Given the description of an element on the screen output the (x, y) to click on. 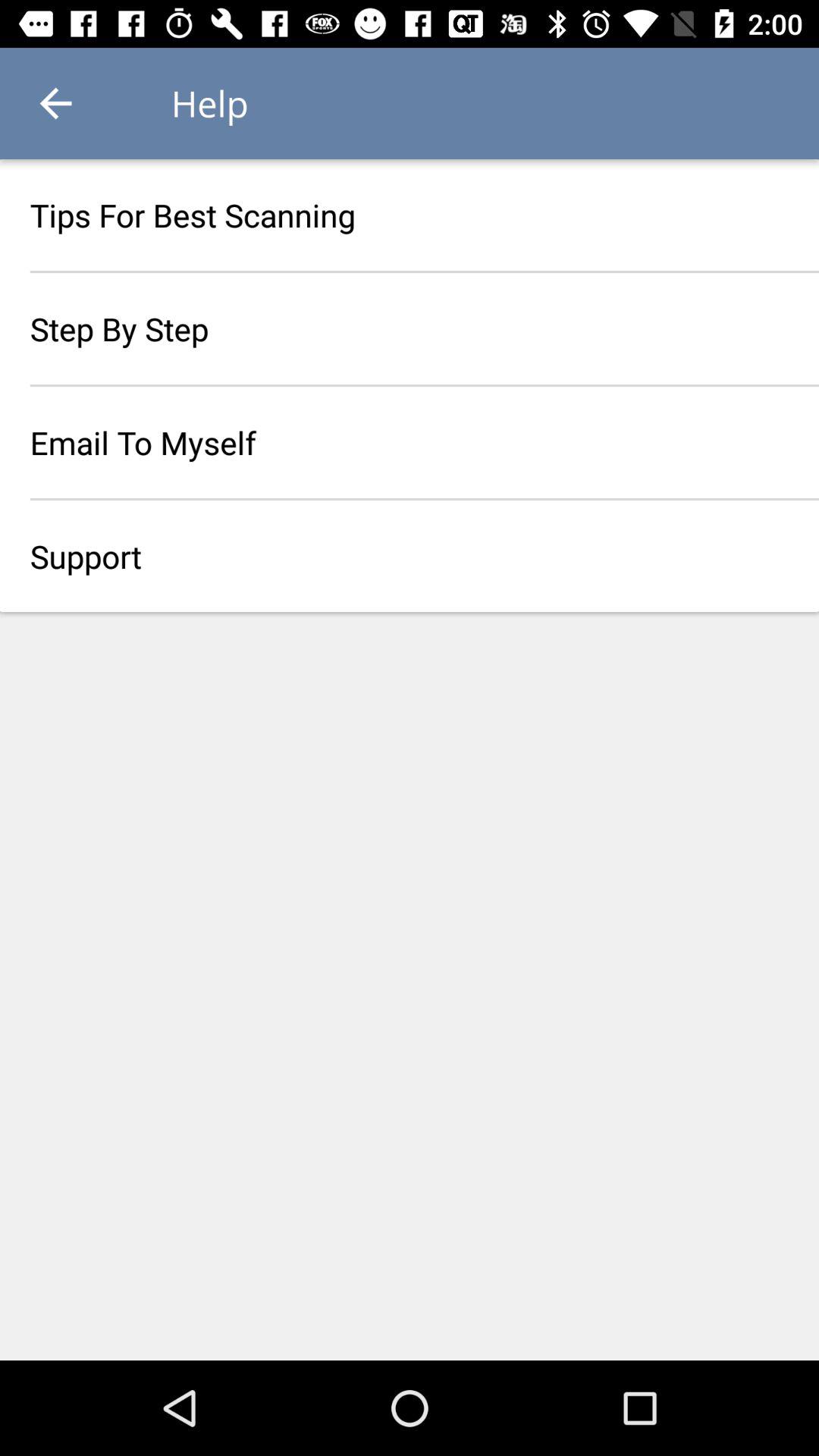
tap icon next to the help item (55, 103)
